Given the description of an element on the screen output the (x, y) to click on. 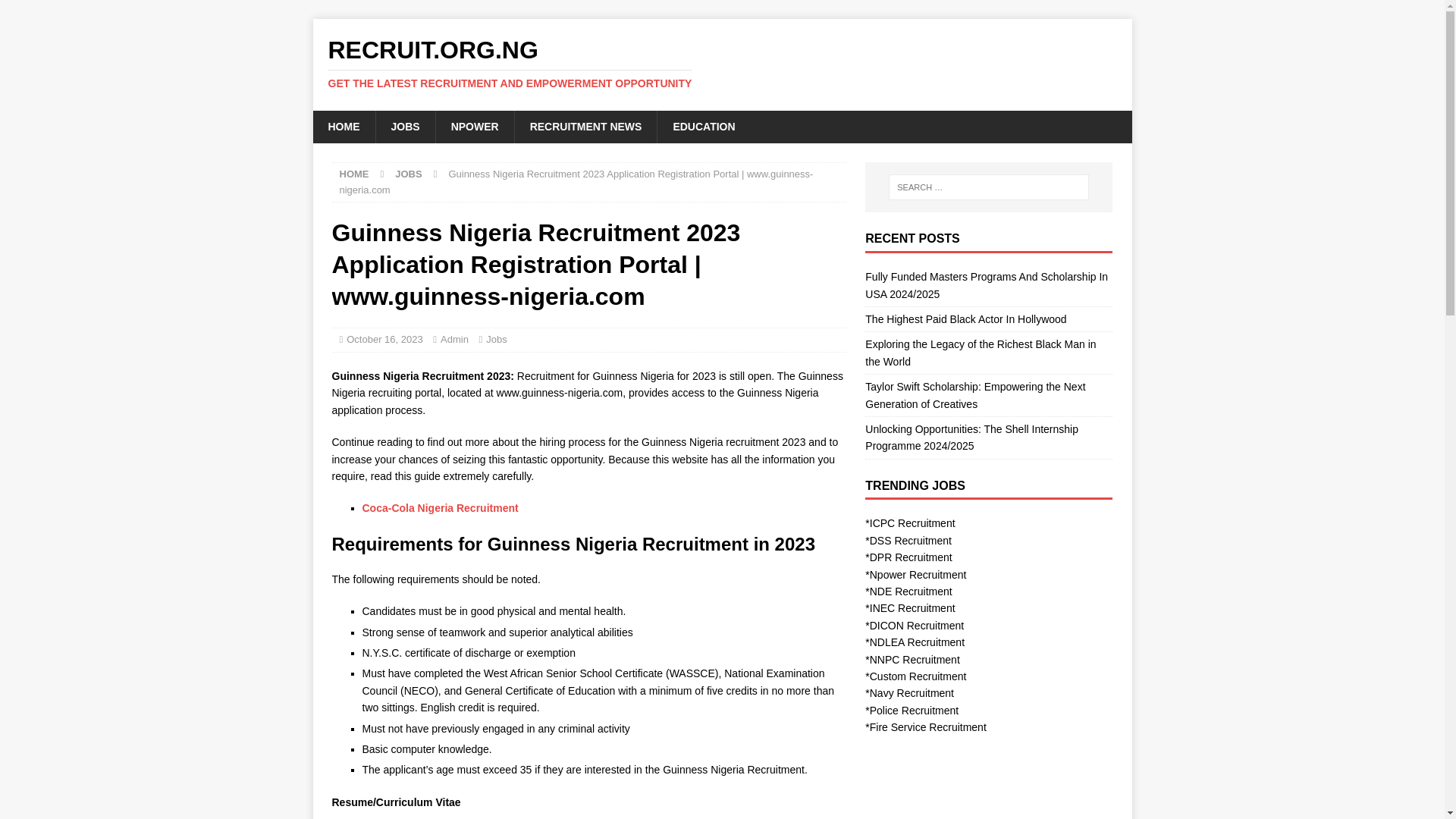
ICPC Recruitment (912, 522)
Coca-Cola Nigeria Recruitment (440, 508)
Npower Recruitment (917, 574)
RECRUIT.ORG.NG (721, 63)
The Highest Paid Black Actor In Hollywood (964, 318)
EDUCATION (702, 126)
Exploring the Legacy of the Richest Black Man in the World (980, 352)
HOME (354, 173)
Jobs (496, 338)
Search (56, 11)
NDE Recruitment (910, 591)
NPOWER (474, 126)
RECRUITMENT NEWS (585, 126)
JOBS (403, 126)
HOME (343, 126)
